Given the description of an element on the screen output the (x, y) to click on. 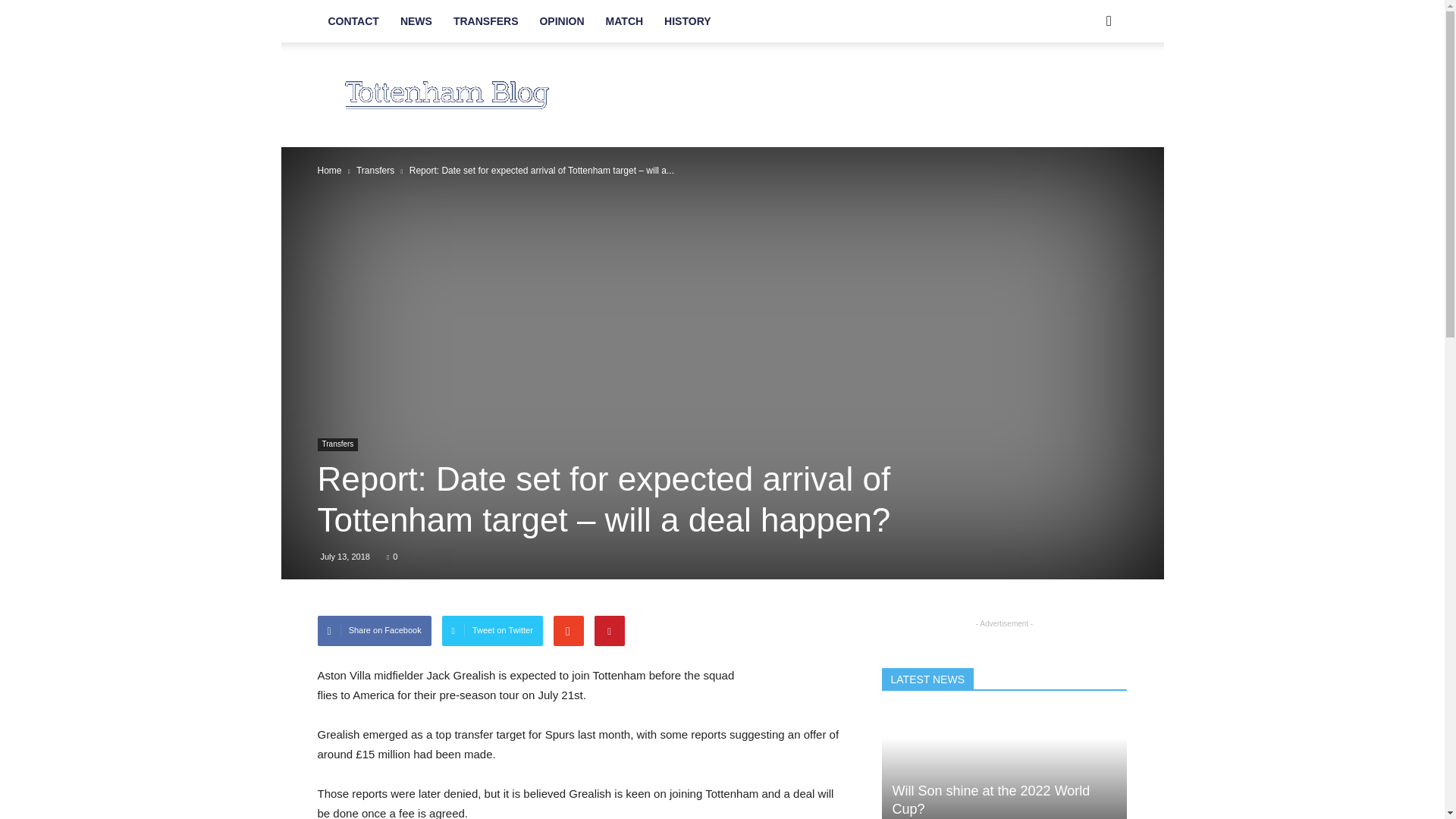
MATCH (624, 21)
OPINION (561, 21)
Transfers (337, 444)
Transfers (375, 170)
NEWS (416, 21)
CONTACT (352, 21)
View all posts in Transfers (375, 170)
Tweet on Twitter (492, 630)
HISTORY (686, 21)
Will Son shine at the 2022 World Cup? (990, 799)
